Given the description of an element on the screen output the (x, y) to click on. 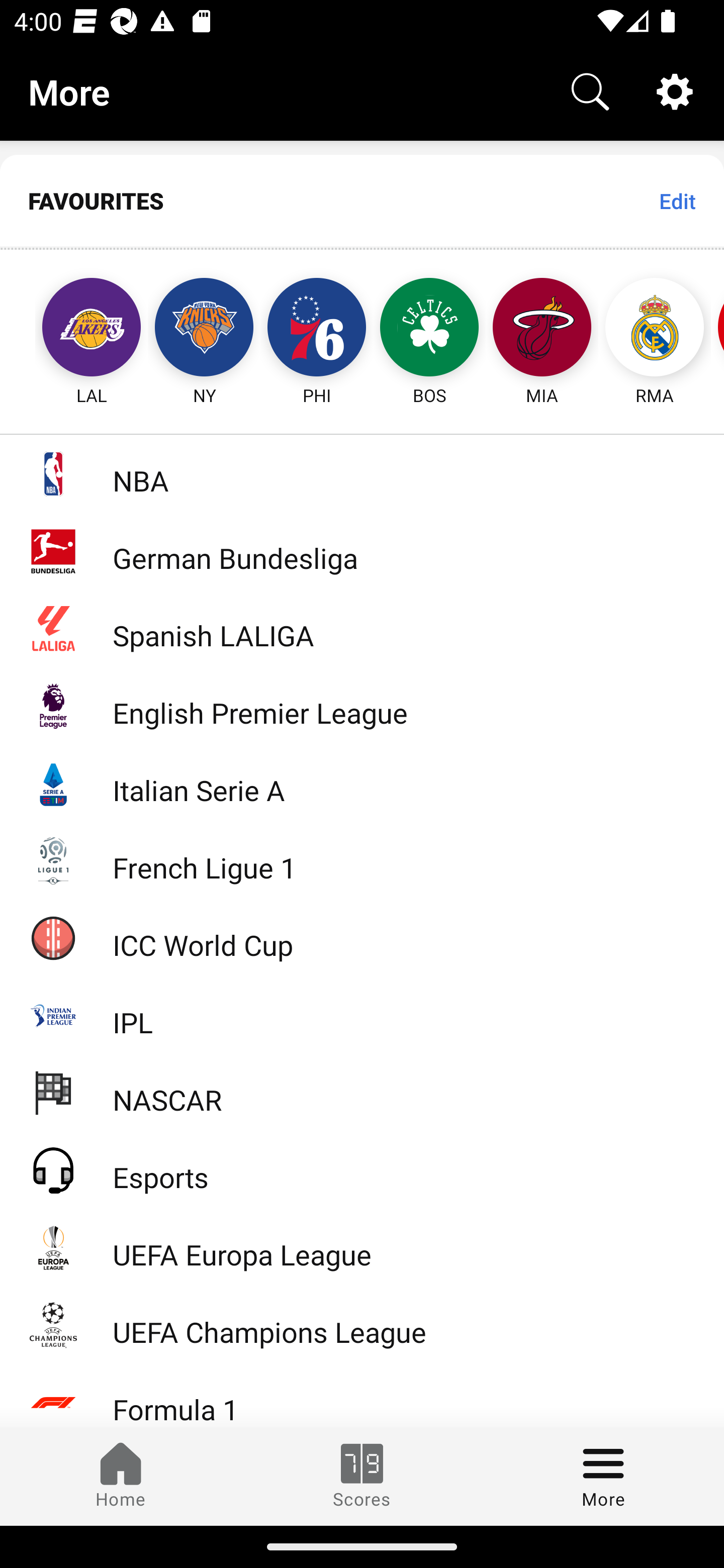
Search (590, 90)
Settings (674, 90)
Edit (676, 200)
LAL Los Angeles Lakers (73, 328)
NY New York Knicks (203, 328)
PHI Philadelphia 76ers (316, 328)
BOS Boston Celtics (428, 328)
MIA Miami Heat (541, 328)
RMA Real Madrid (654, 328)
NBA (362, 473)
German Bundesliga (362, 550)
Spanish LALIGA (362, 627)
English Premier League (362, 705)
Italian Serie A (362, 782)
French Ligue 1 (362, 859)
ICC World Cup (362, 937)
IPL (362, 1014)
NASCAR (362, 1091)
Esports (362, 1169)
UEFA Europa League (362, 1246)
UEFA Champions League (362, 1324)
Formula 1 (362, 1395)
Home (120, 1475)
Scores (361, 1475)
